Given the description of an element on the screen output the (x, y) to click on. 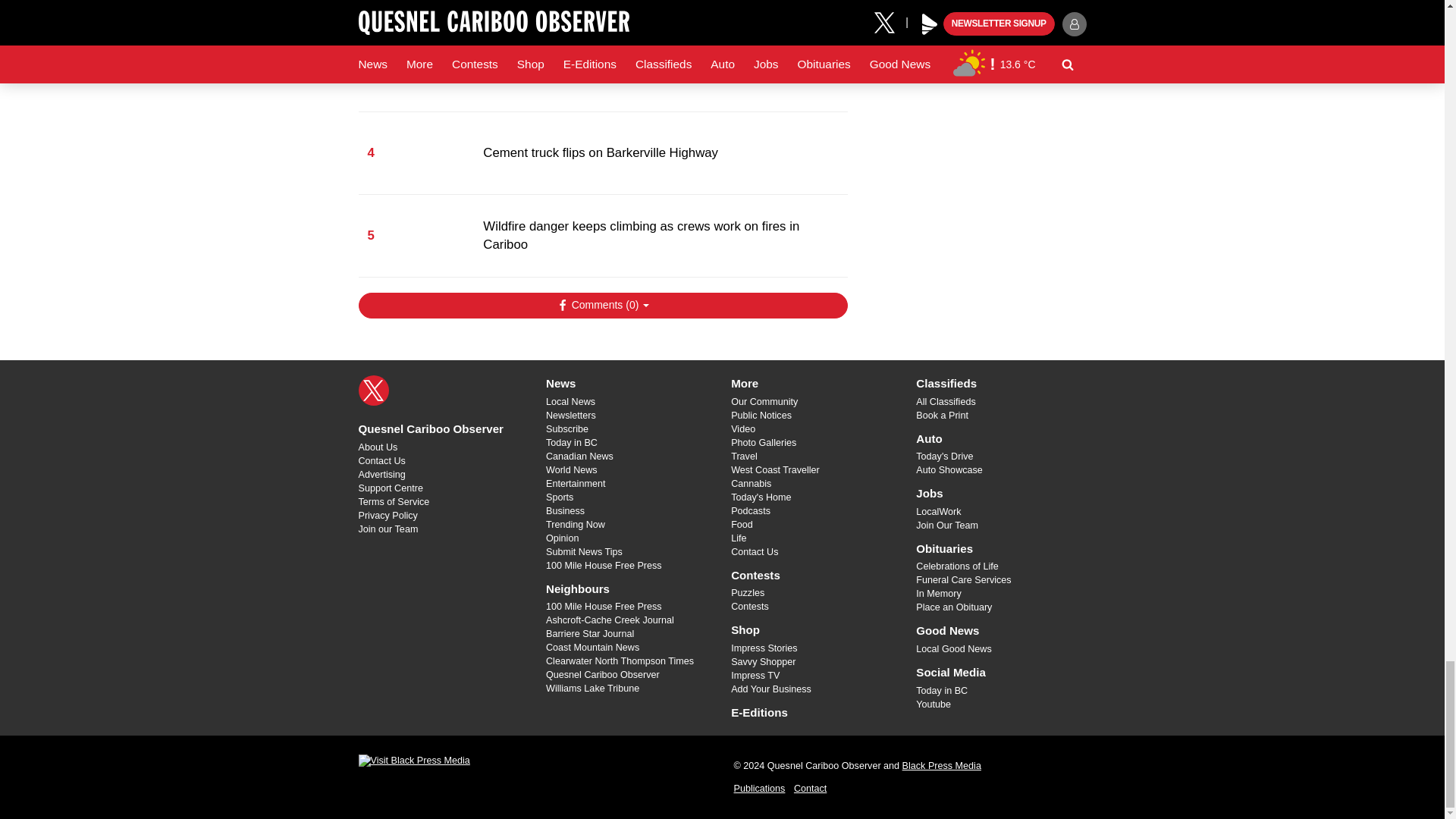
X (373, 390)
Show Comments (602, 305)
